Given the description of an element on the screen output the (x, y) to click on. 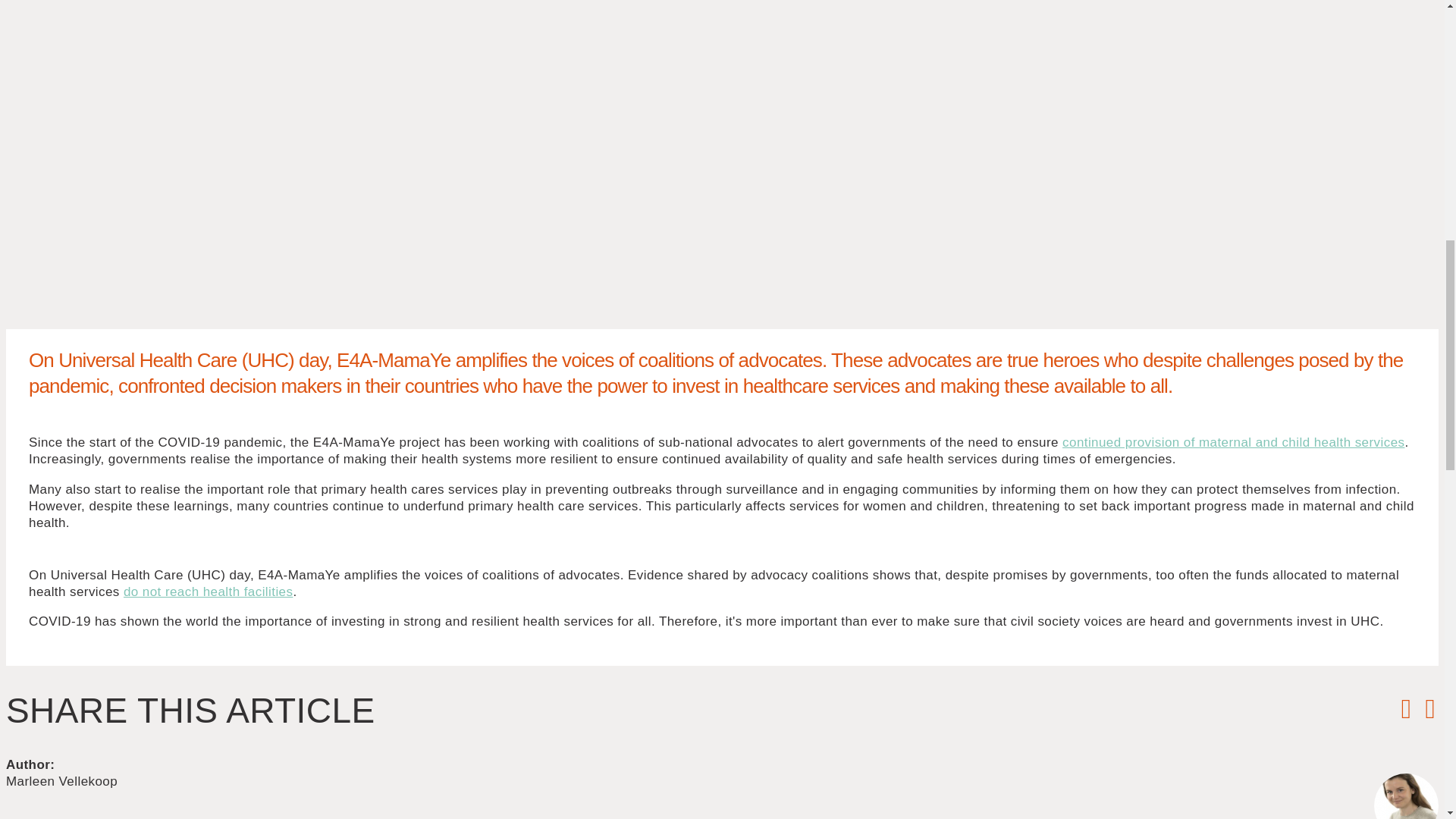
Story on MNH situation in Kenya. (1233, 441)
Efforts of advocates in Lagos, Nigeria (208, 591)
